Given the description of an element on the screen output the (x, y) to click on. 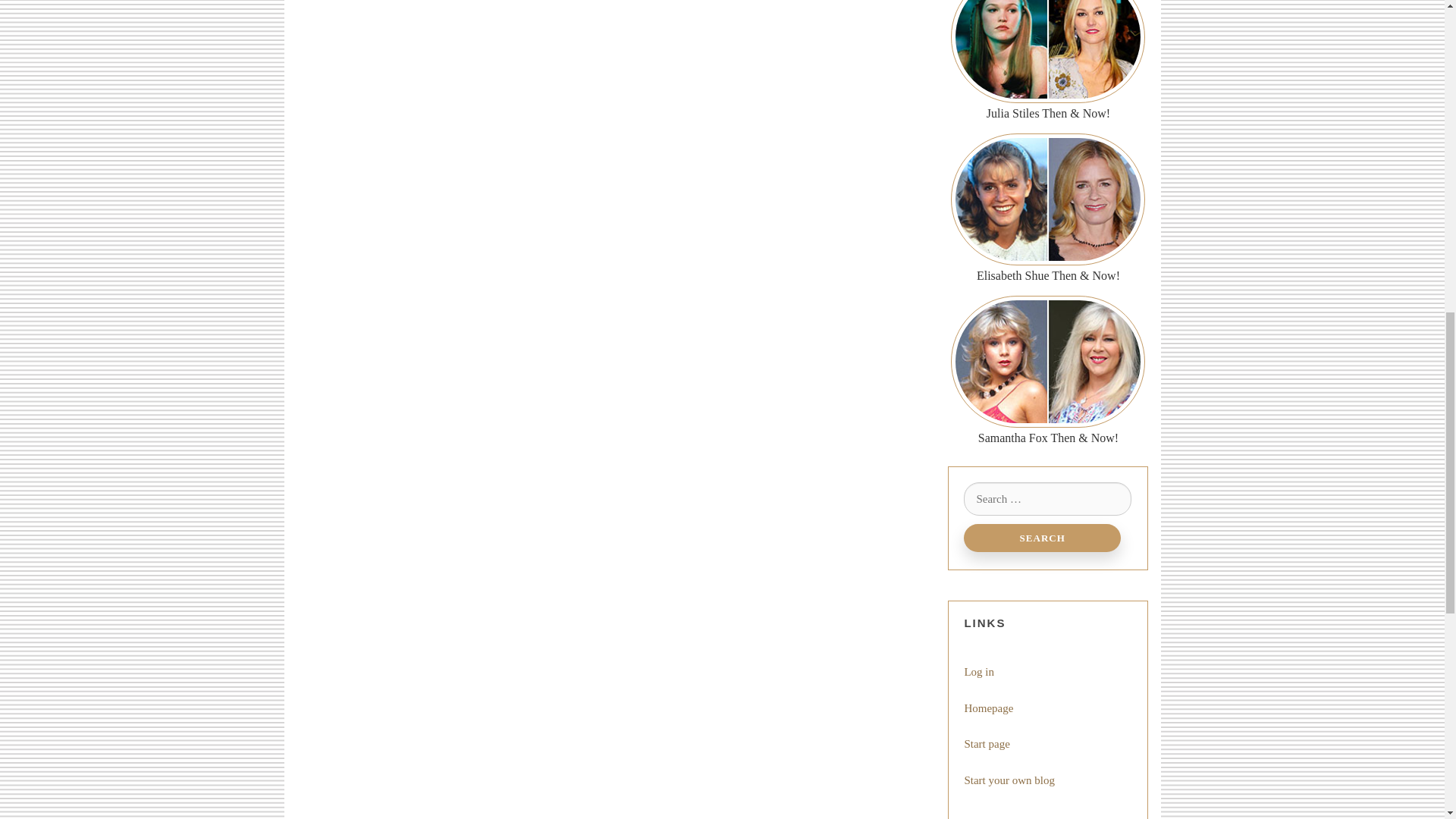
Search (1041, 538)
Start page (986, 743)
Log in (978, 671)
Search (1041, 538)
Search (1041, 538)
Homepage (988, 707)
Start your own blog (1008, 779)
